Given the description of an element on the screen output the (x, y) to click on. 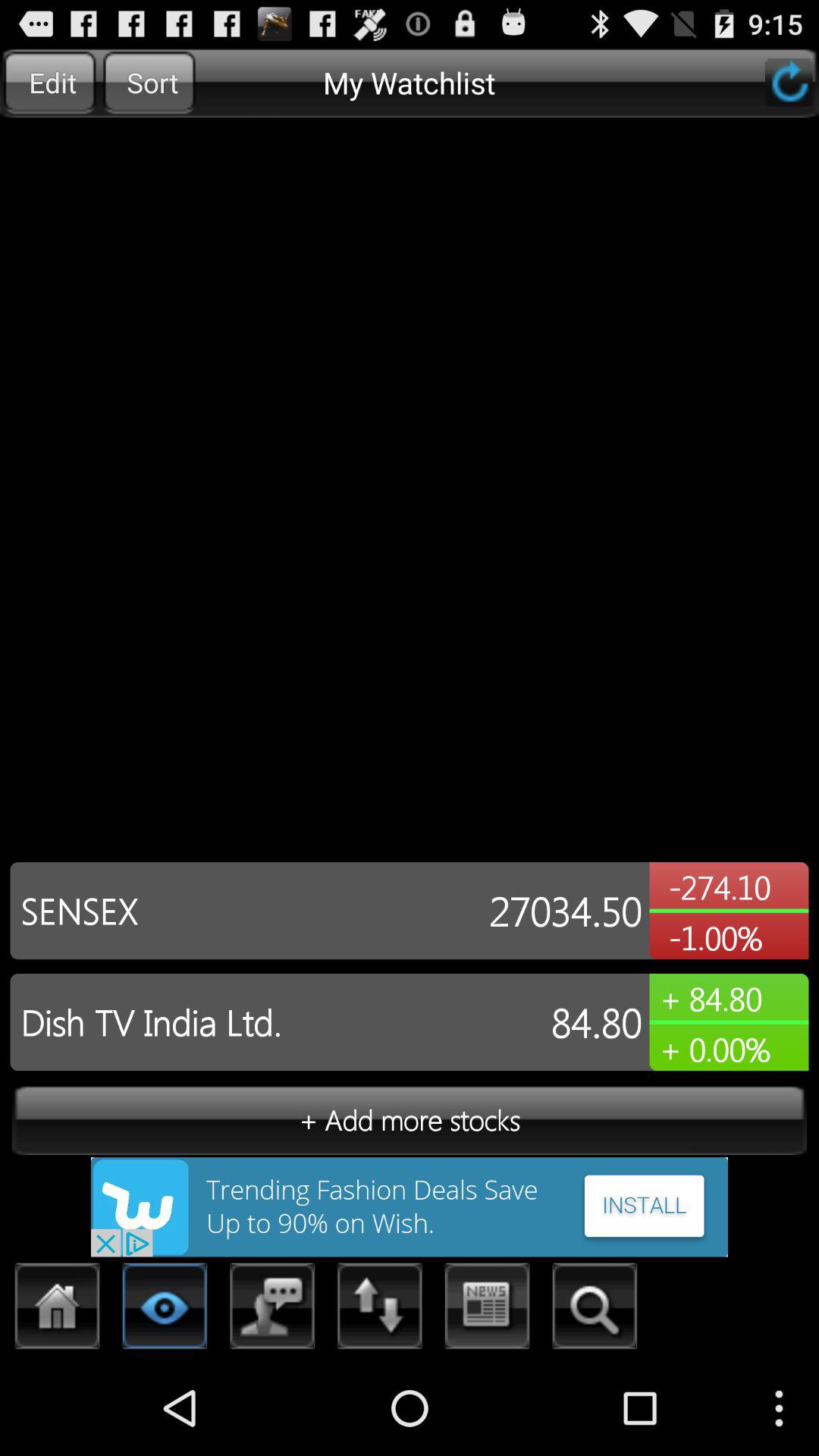
search (594, 1310)
